Given the description of an element on the screen output the (x, y) to click on. 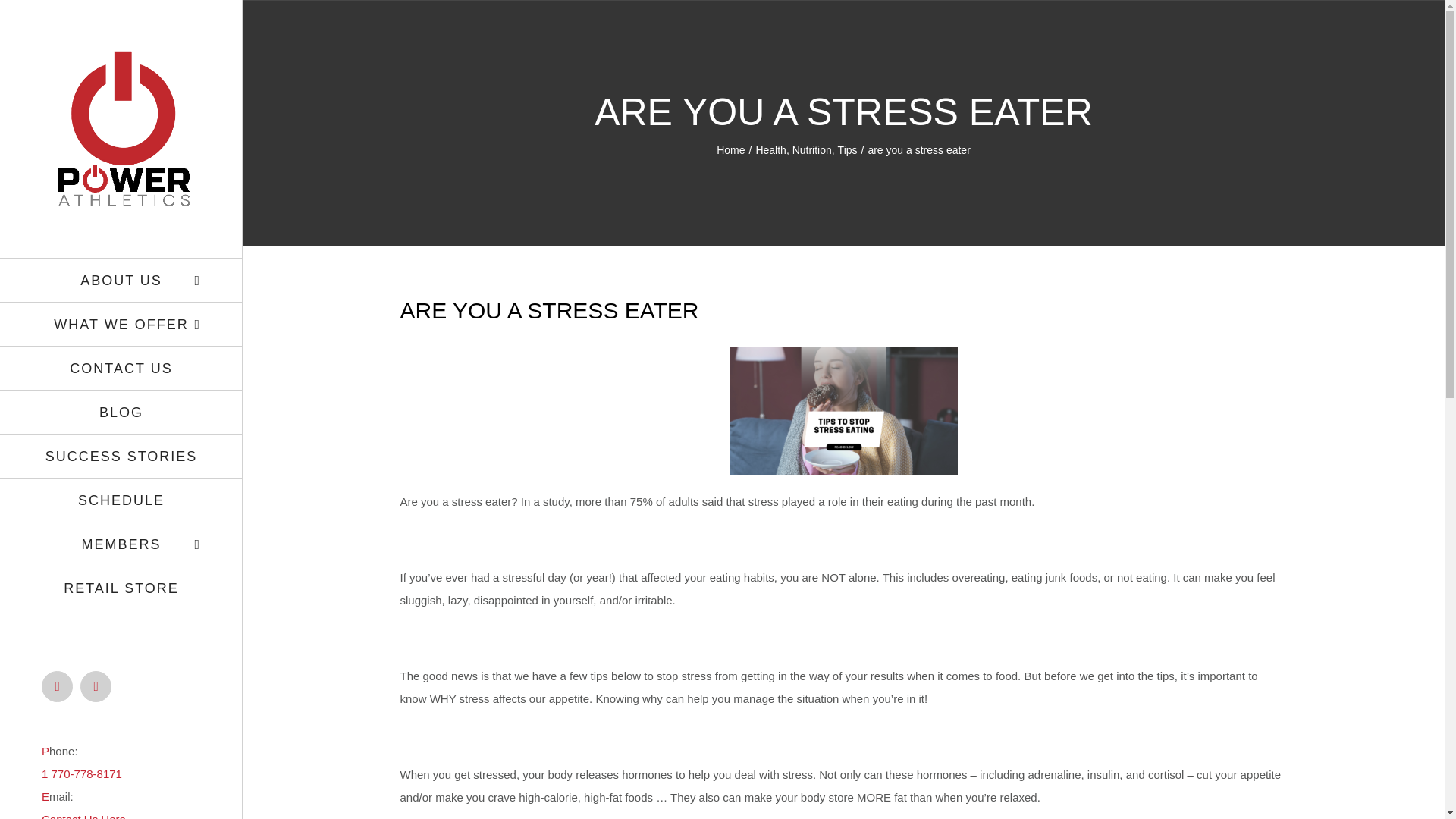
MEMBERS (121, 544)
Instagram (96, 685)
ABOUT US (121, 279)
1 770-778-8171 (82, 773)
Tips (847, 150)
SCHEDULE (121, 500)
BLOG (121, 412)
Instagram (96, 685)
Facebook (57, 685)
Contact Us Here (83, 816)
Nutrition (811, 150)
Health (770, 150)
Facebook (57, 685)
RETAIL STORE (121, 588)
CONTACT US (121, 368)
